Given the description of an element on the screen output the (x, y) to click on. 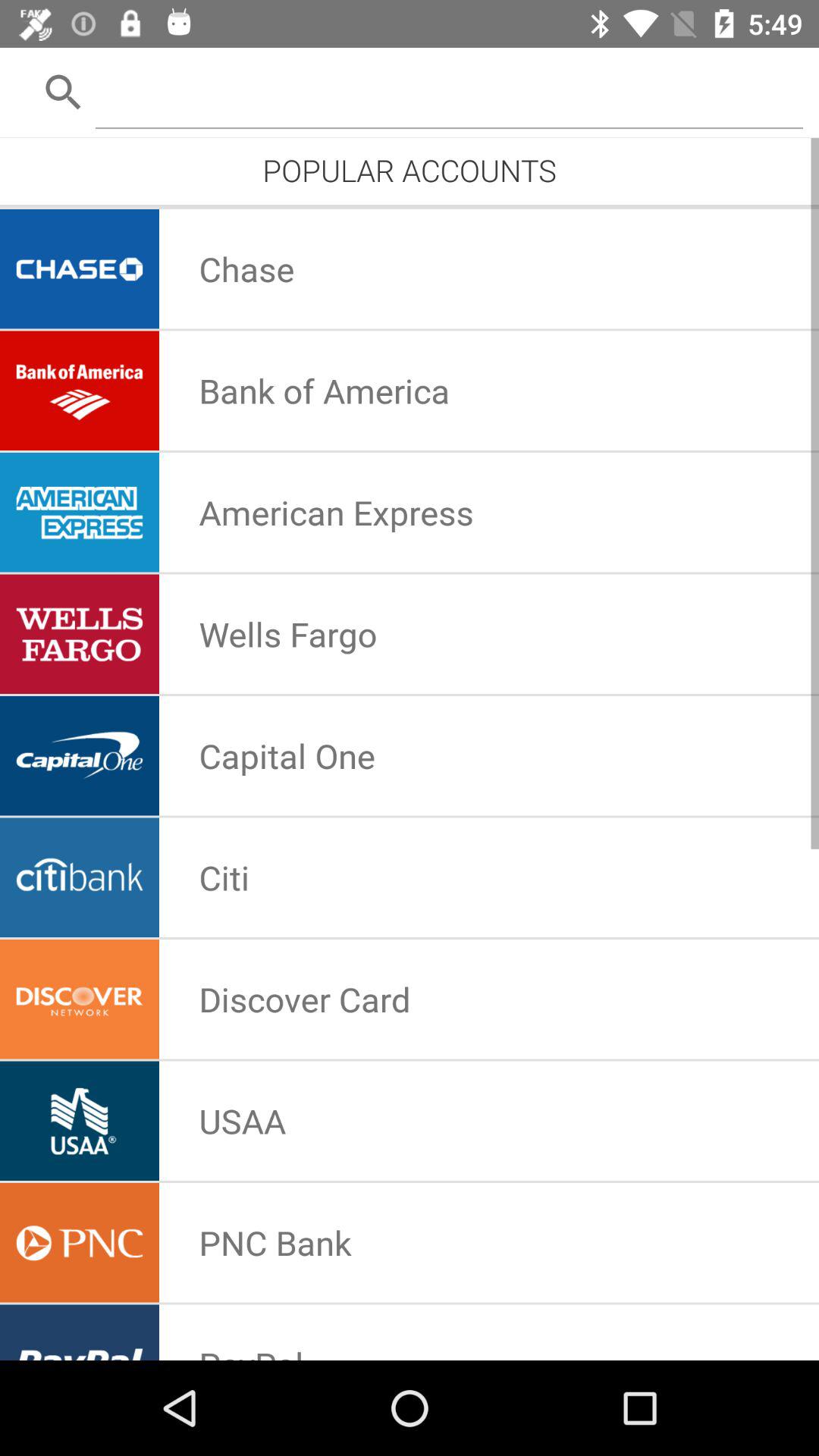
turn on icon below bank of america (336, 512)
